Given the description of an element on the screen output the (x, y) to click on. 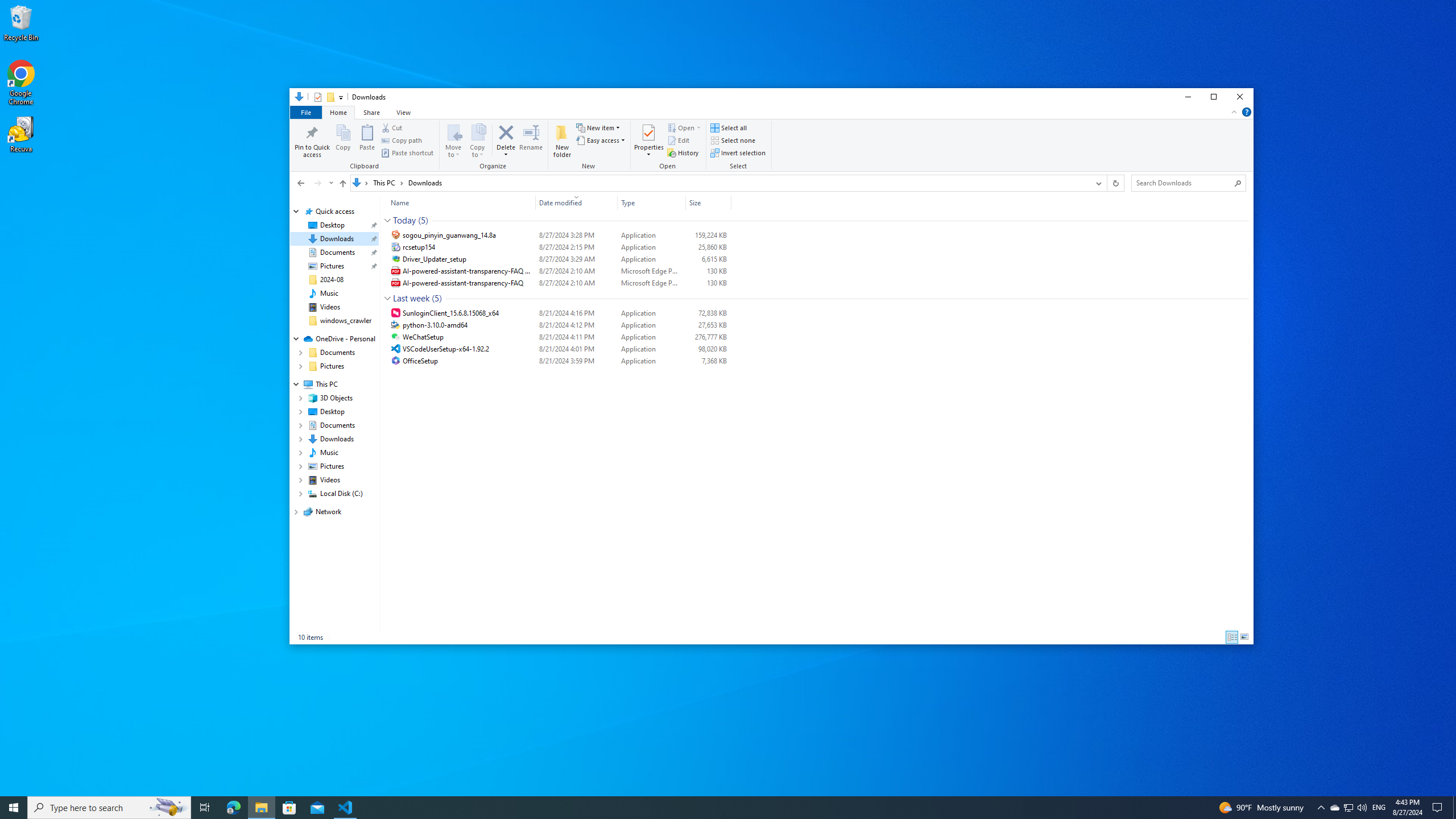
Open (698, 128)
Filter dropdown (726, 202)
Refresh "Downloads" (F5) (1115, 182)
Help (1246, 111)
Recent locations (330, 182)
Quick Access Toolbar (323, 96)
Quick access (334, 211)
Desktop (pinned) (332, 224)
Easy access (600, 140)
python-3.10.0-amd64 (558, 325)
Downloads (pinned) (336, 238)
